Given the description of an element on the screen output the (x, y) to click on. 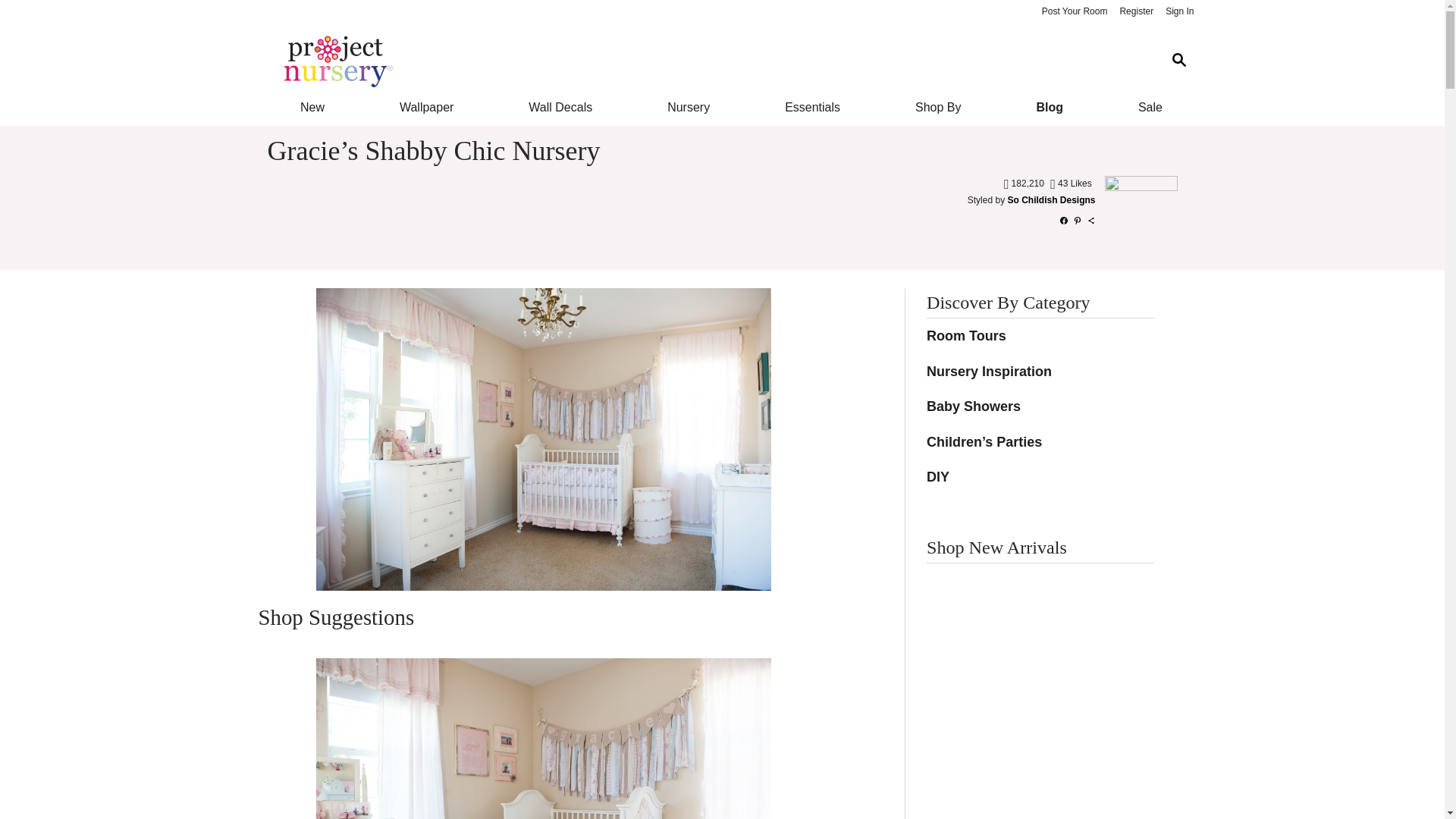
Post Your Room (1074, 11)
Post Your Room (1074, 11)
Wall Decals (561, 107)
Wallpaper (425, 107)
Sign In (1178, 11)
New (311, 107)
Register (1135, 11)
Project Nursery (709, 60)
Search (1178, 60)
Nursery (689, 107)
